Given the description of an element on the screen output the (x, y) to click on. 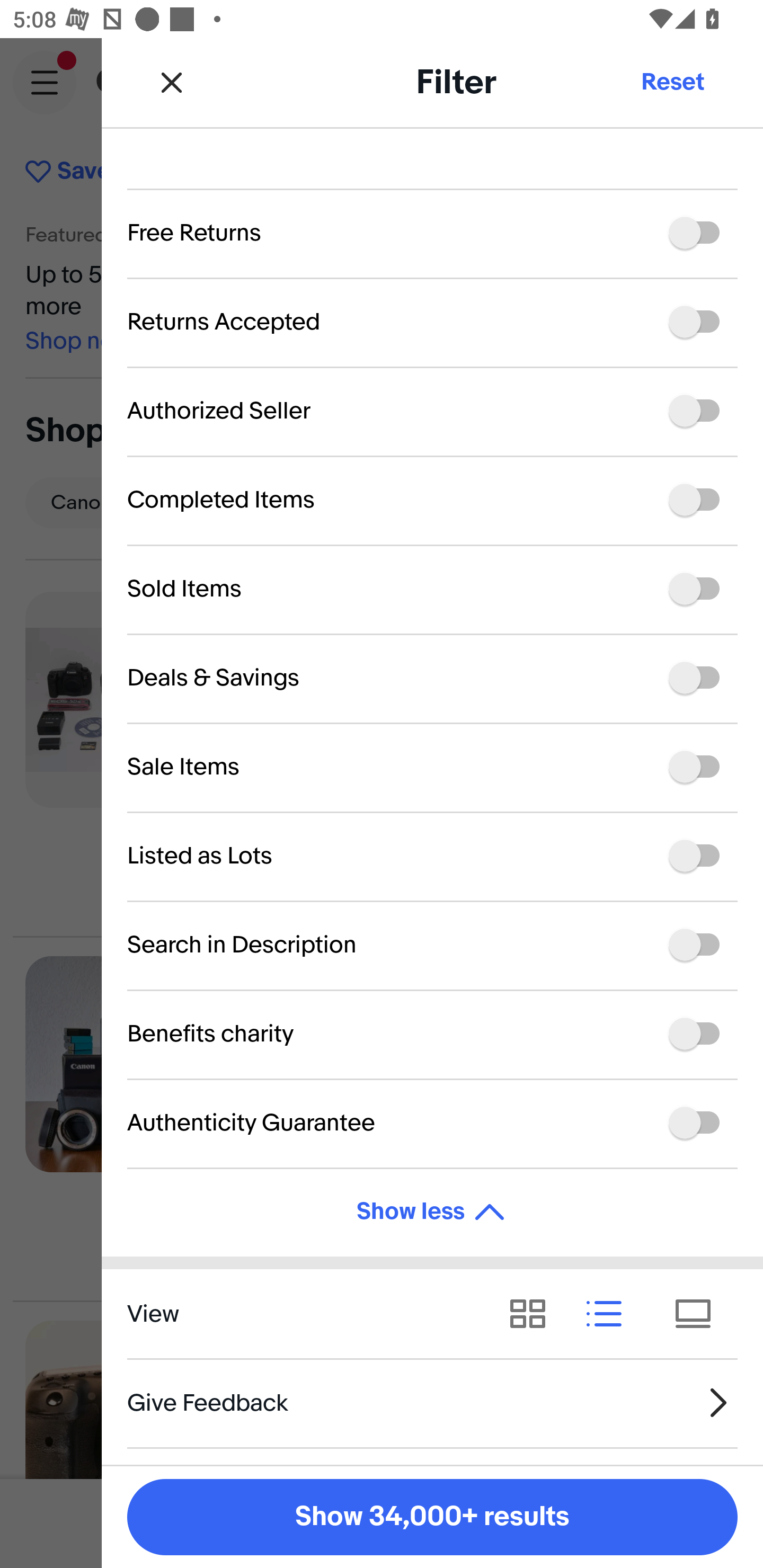
Close Filter (171, 81)
Reset (672, 81)
Free Returns (432, 232)
Returns Accepted (432, 321)
Authorized Seller (432, 411)
Completed Items (432, 500)
Sold Items (432, 588)
Deals & Savings (432, 677)
Sale Items (432, 767)
Listed as Lots (432, 856)
Search in Description (432, 944)
Benefits charity (432, 1033)
Authenticity Guarantee (432, 1123)
Show less (432, 1211)
View results as grid (533, 1313)
View results as list (610, 1313)
View results as tiles (699, 1313)
Show 34,000+ results (432, 1516)
